Given the description of an element on the screen output the (x, y) to click on. 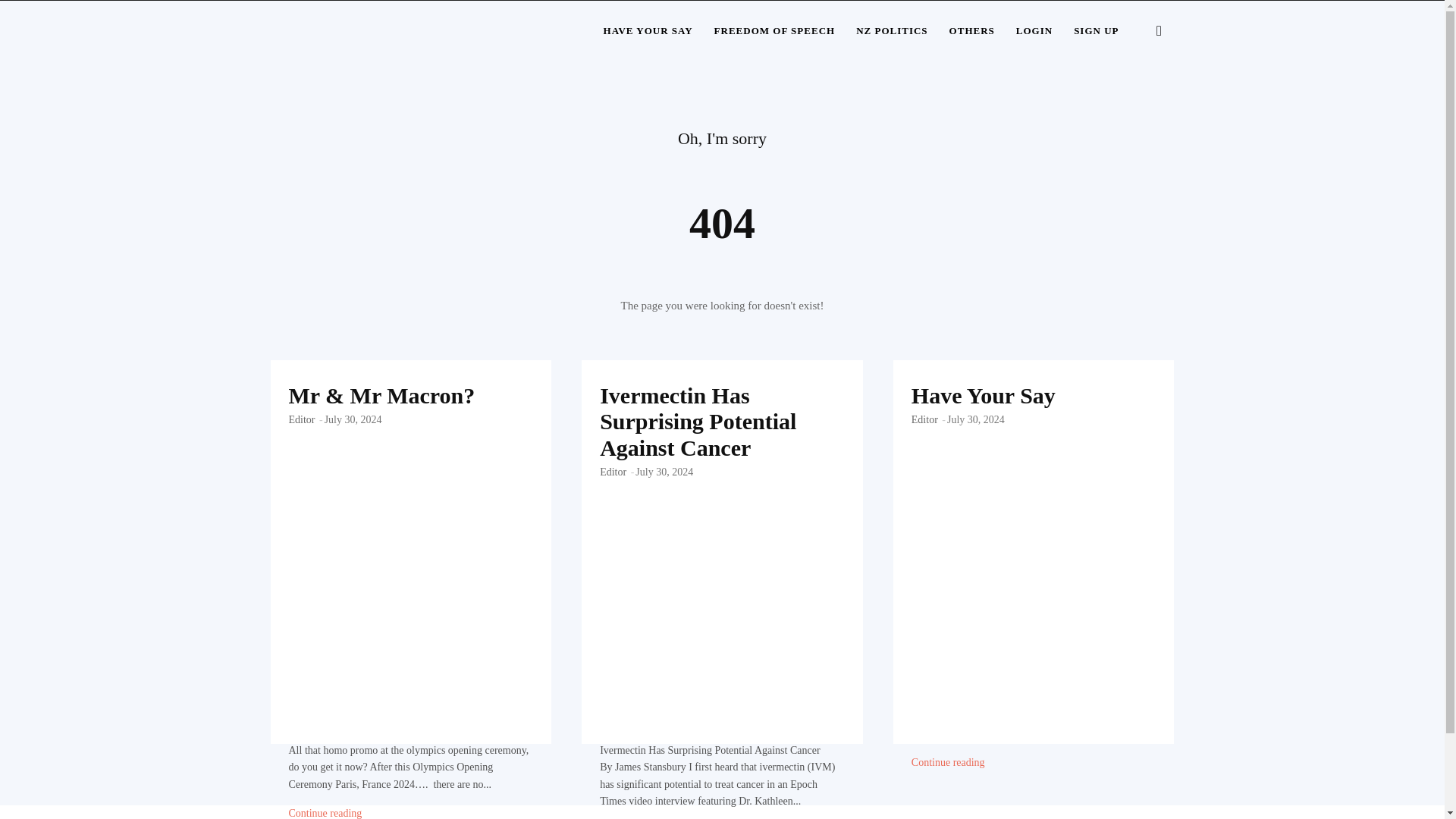
OTHERS (972, 30)
LOGIN (1034, 30)
FREEDOM OF SPEECH (774, 30)
Ivermectin Has Surprising Potential Against Cancer (697, 421)
HAVE YOUR SAY (647, 30)
Continue reading (948, 762)
Search (1134, 103)
Continue reading (324, 813)
Ivermectin Has Surprising Potential Against Cancer (721, 444)
Have Your Say (1033, 444)
Have Your Say (983, 395)
NZ POLITICS (891, 30)
SIGN UP (1095, 30)
